Given the description of an element on the screen output the (x, y) to click on. 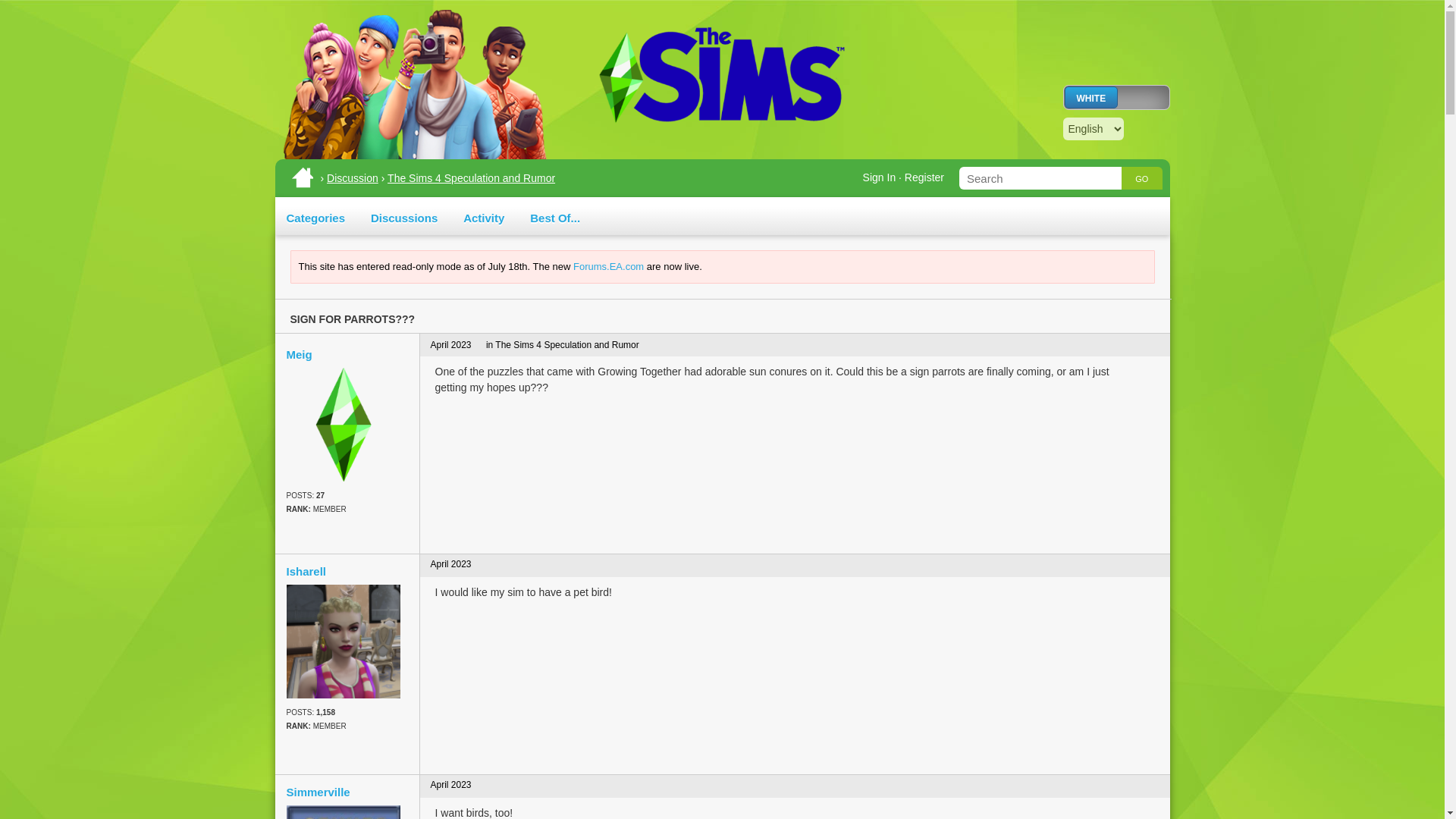
April 26, 2023 5:02PM (450, 563)
Isharell (343, 641)
Go (1141, 178)
Isharell (346, 571)
Member (346, 726)
April 2023 (450, 784)
Member (346, 509)
Categories (316, 217)
Forums.EA.com (608, 266)
Home (301, 177)
